Given the description of an element on the screen output the (x, y) to click on. 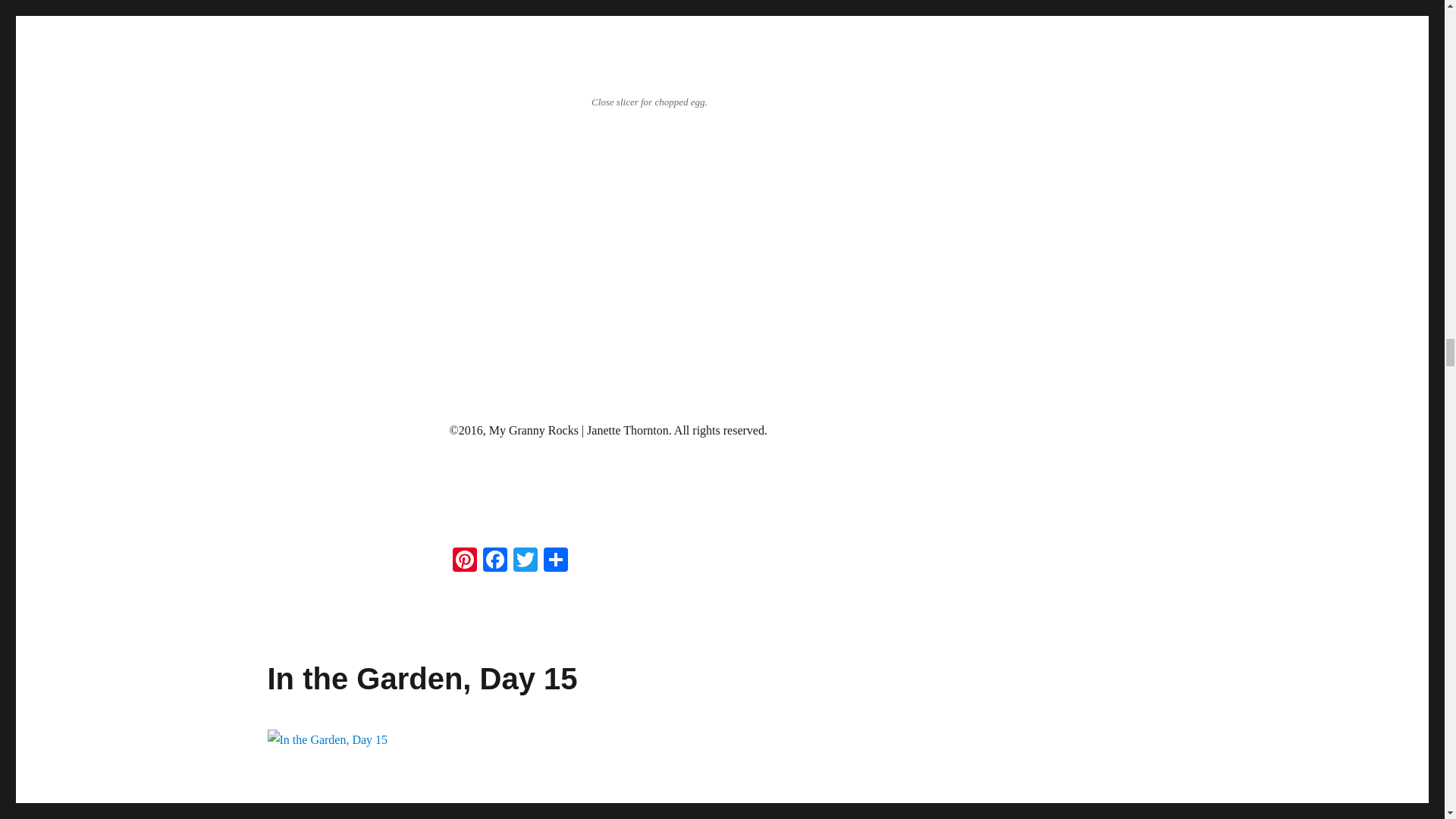
Share (555, 561)
Pinterest (463, 561)
Facebook (494, 561)
Twitter (524, 561)
Facebook (494, 561)
Twitter (524, 561)
In the Garden, Day 15 (421, 677)
Pinterest (463, 561)
